Given the description of an element on the screen output the (x, y) to click on. 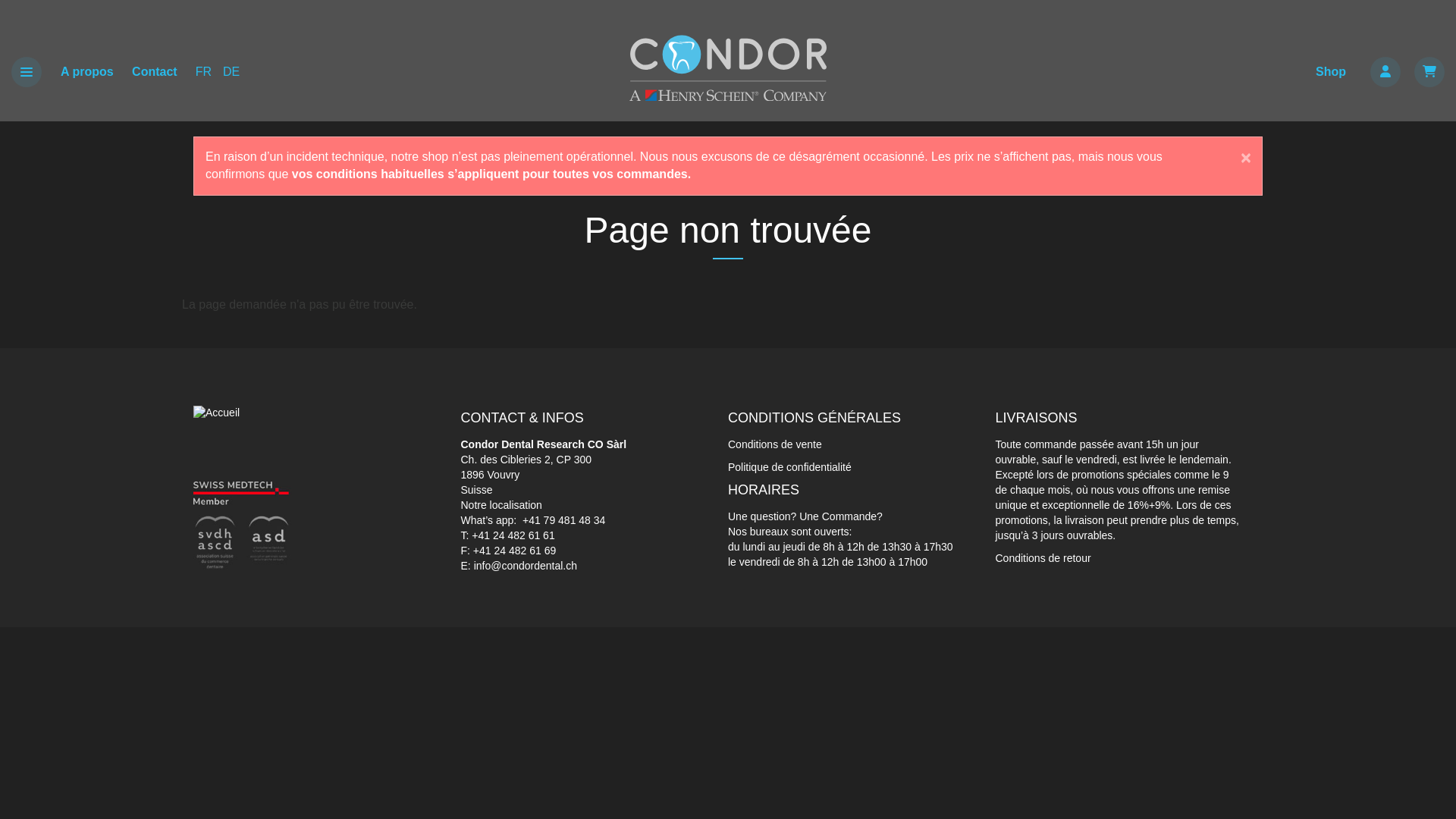
Conditions de vente Element type: text (775, 444)
info@condordental.ch Element type: text (525, 565)
Conditions de retour Element type: text (1042, 558)
Accueil Element type: hover (727, 68)
+41 24 482 61 61 Element type: text (512, 535)
A propos Element type: text (86, 71)
+41 79 481 48 34 Element type: text (563, 520)
DE Element type: text (230, 71)
Contact Element type: text (154, 71)
+41 24 482 61 69 Element type: text (514, 550)
Aller au contenu principal Element type: text (0, 0)
   Element type: text (1429, 71)
Shop Element type: text (1330, 71)
Accueil Element type: hover (216, 411)
FR Element type: text (203, 71)
Notre localisation Element type: text (501, 504)
